Given the description of an element on the screen output the (x, y) to click on. 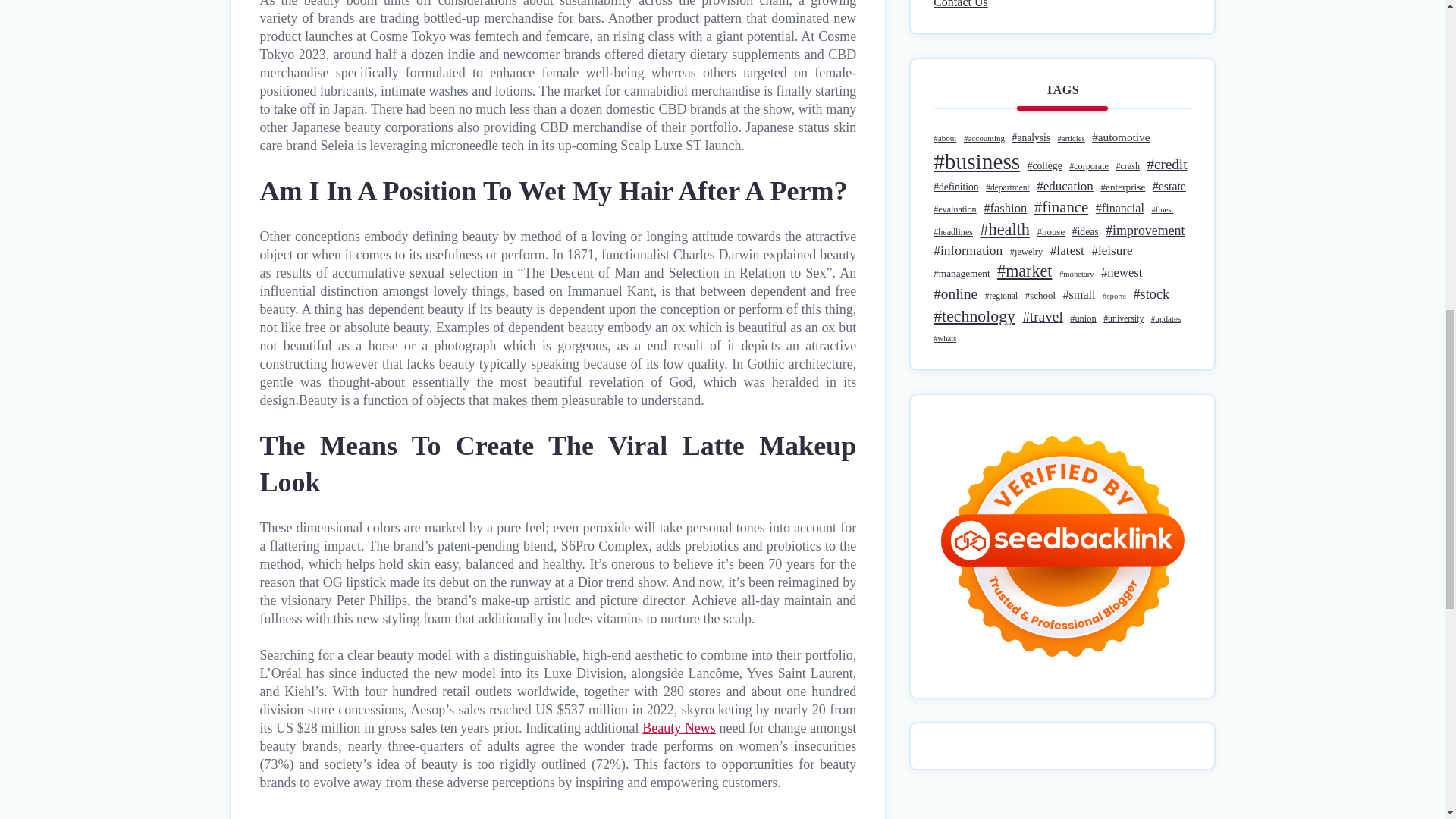
Seedbacklink (1062, 545)
